Given the description of an element on the screen output the (x, y) to click on. 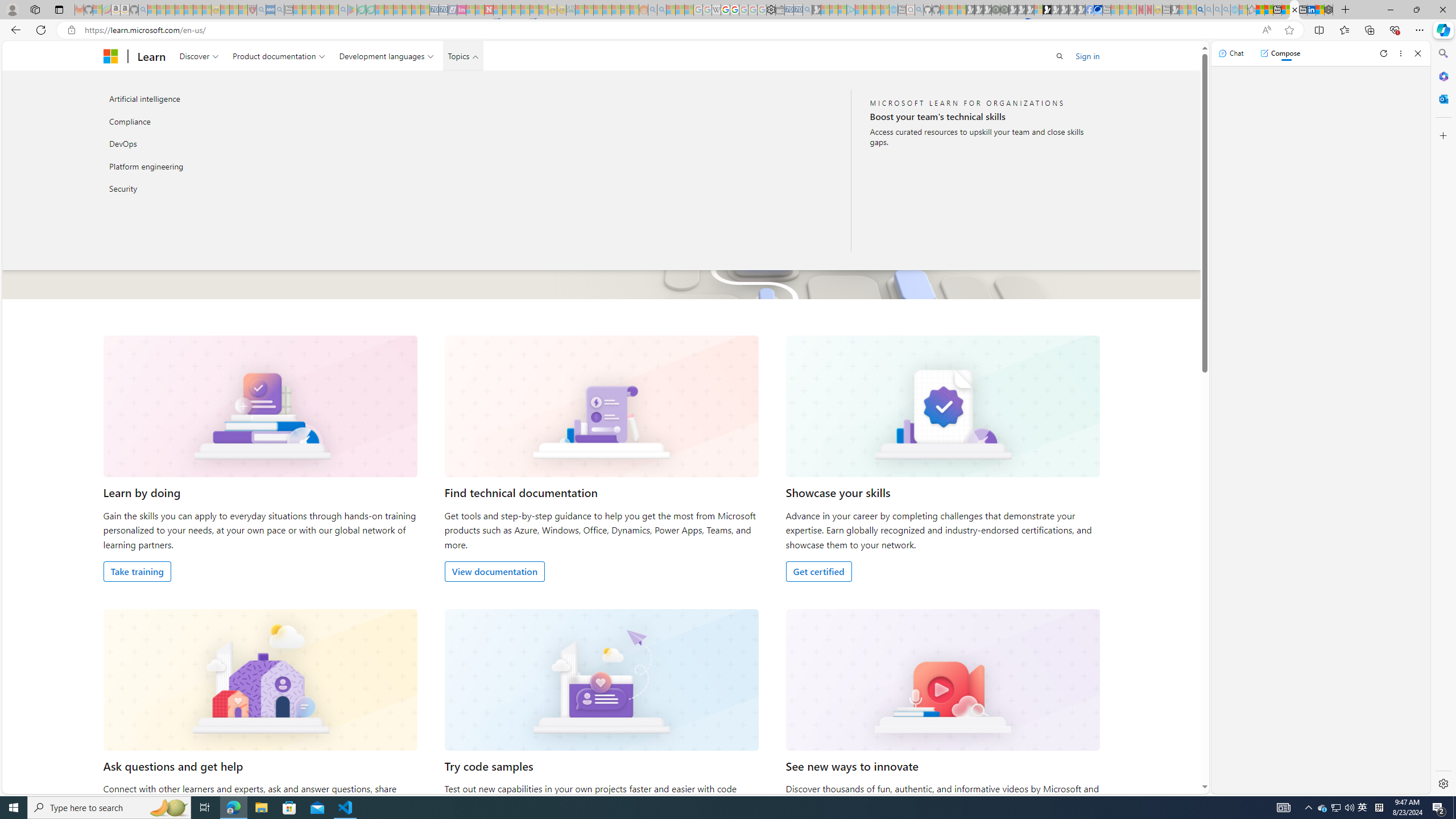
Product documentation (278, 55)
Privacy Help Center - Policies Help (725, 9)
